Given the description of an element on the screen output the (x, y) to click on. 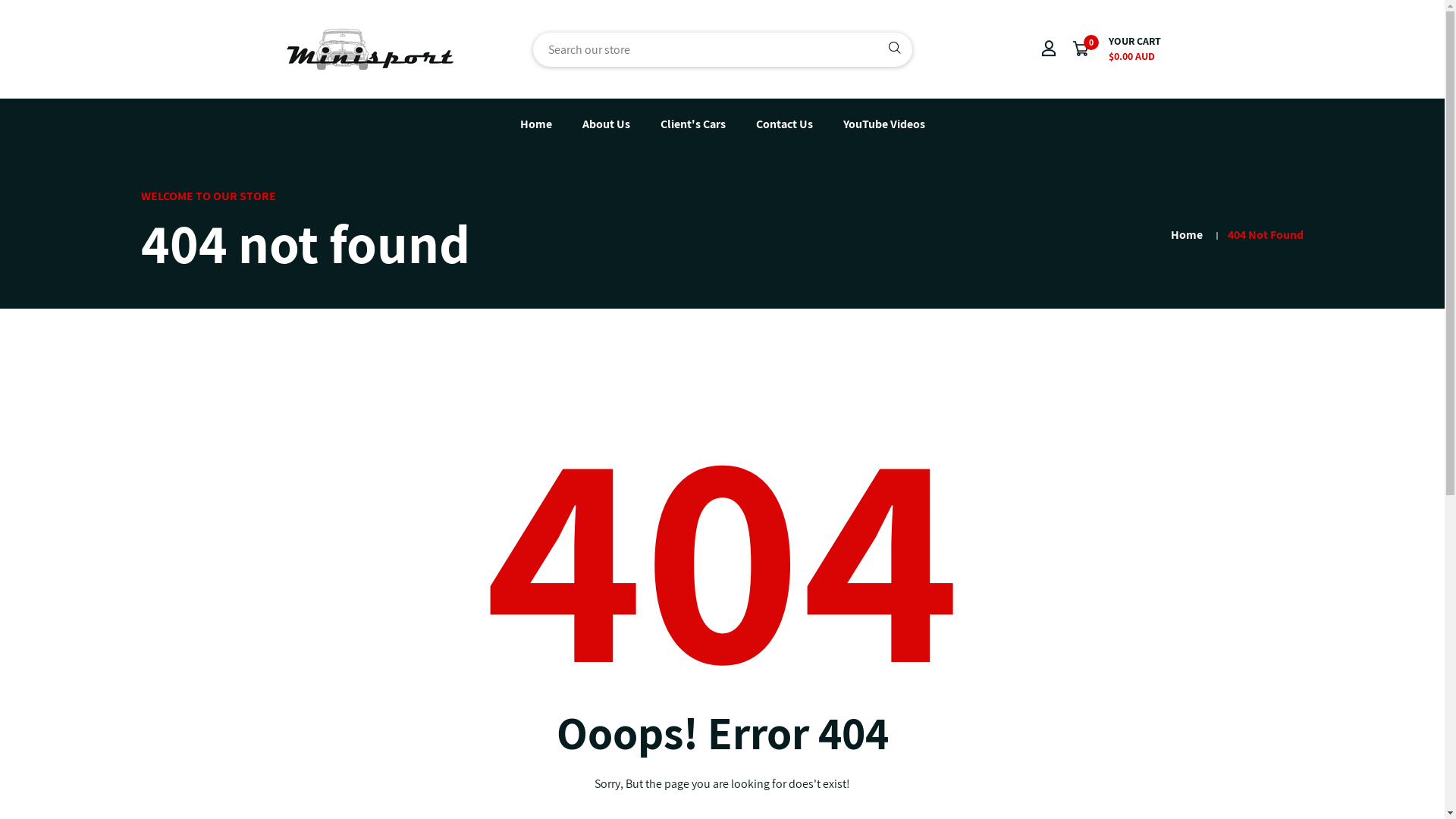
YouTube Videos Element type: text (883, 124)
About Us Element type: text (605, 124)
0
YOUR CART
$0.00 AUD Element type: text (1117, 48)
Client's Cars Element type: text (692, 124)
Home Element type: text (1186, 234)
Contact Us Element type: text (783, 124)
Home Element type: text (535, 124)
